Given the description of an element on the screen output the (x, y) to click on. 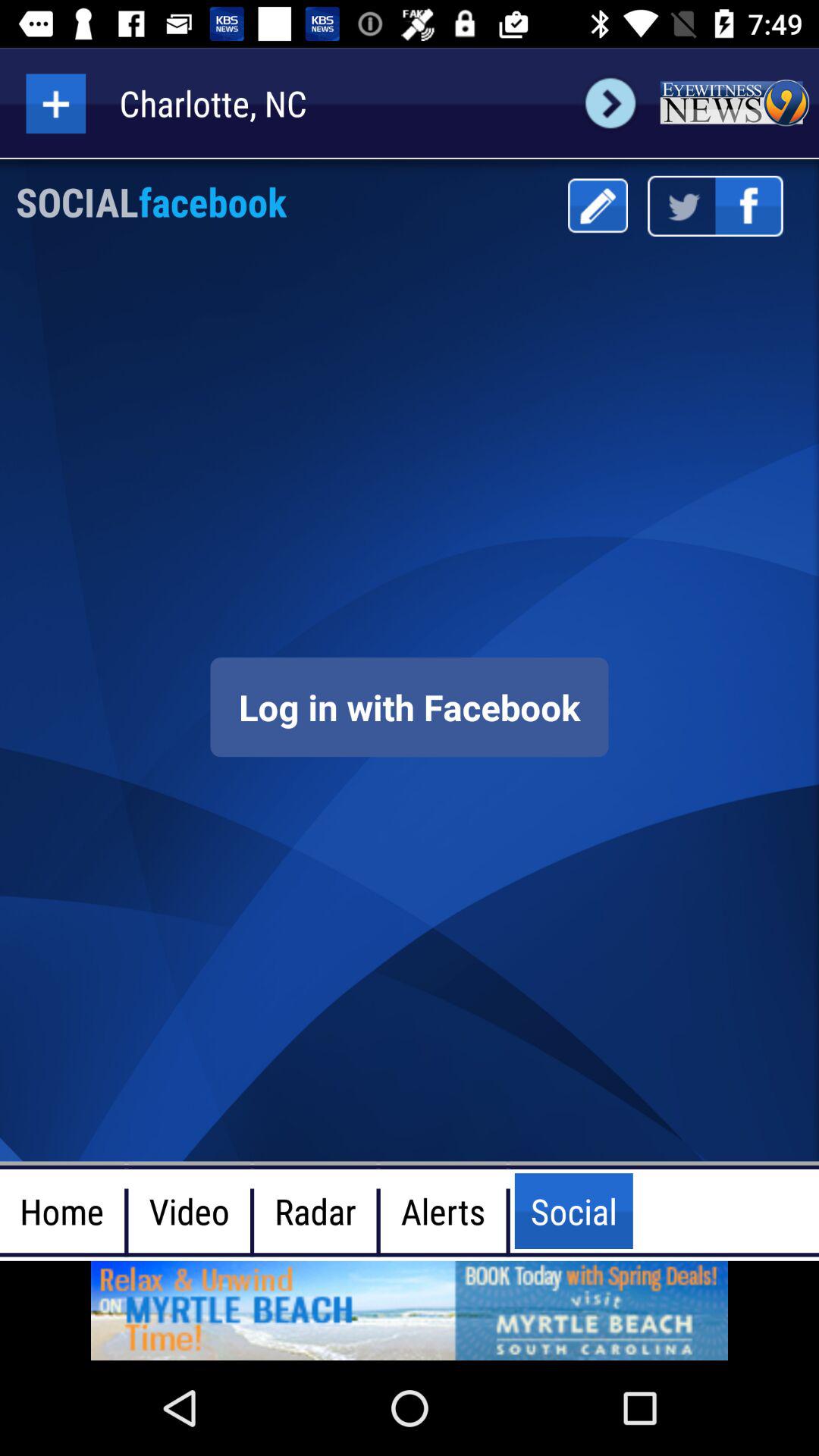
add city or area (55, 103)
